Given the description of an element on the screen output the (x, y) to click on. 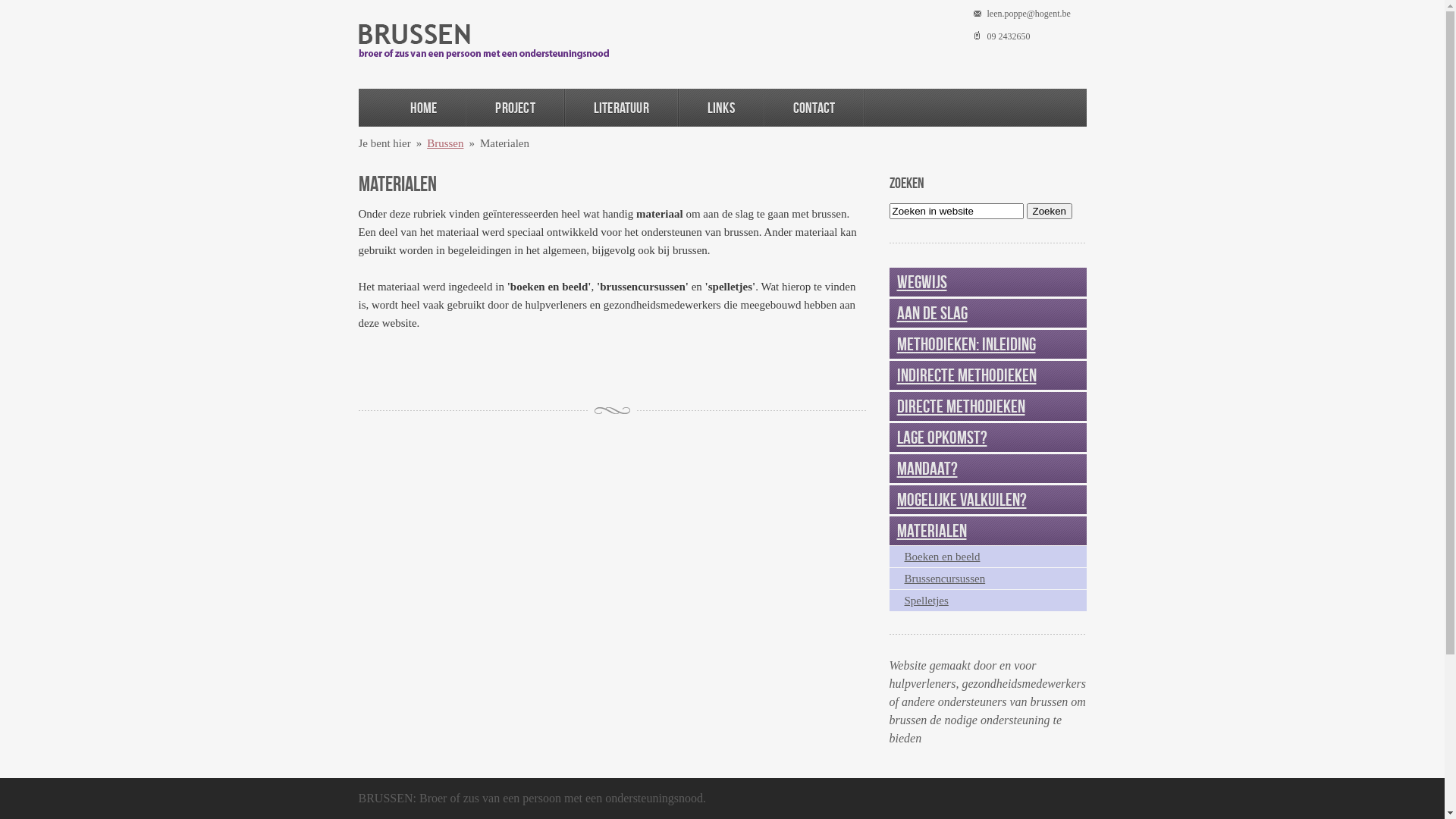
Boeken en beeld Element type: text (941, 556)
Mogelijke valkuilen? Element type: text (961, 499)
Aan de slag Element type: text (931, 313)
Indirecte methodieken Element type: text (965, 375)
Methodieken: inleiding Element type: text (965, 344)
Contact Element type: text (813, 107)
Literatuur Element type: text (620, 107)
Links Element type: text (720, 107)
Wegwijs Element type: text (921, 281)
Zoeken Element type: text (1049, 211)
Materialen Element type: text (931, 530)
Spelletjes Element type: text (925, 600)
Brussen Element type: text (444, 143)
leen.poppe@hogent.be Element type: text (1028, 13)
Lage opkomst? Element type: text (941, 437)
Project Element type: text (514, 107)
Directe methodieken Element type: text (960, 406)
Home Element type: text (422, 107)
Mandaat? Element type: text (926, 468)
Brussencursussen Element type: text (944, 578)
